Given the description of an element on the screen output the (x, y) to click on. 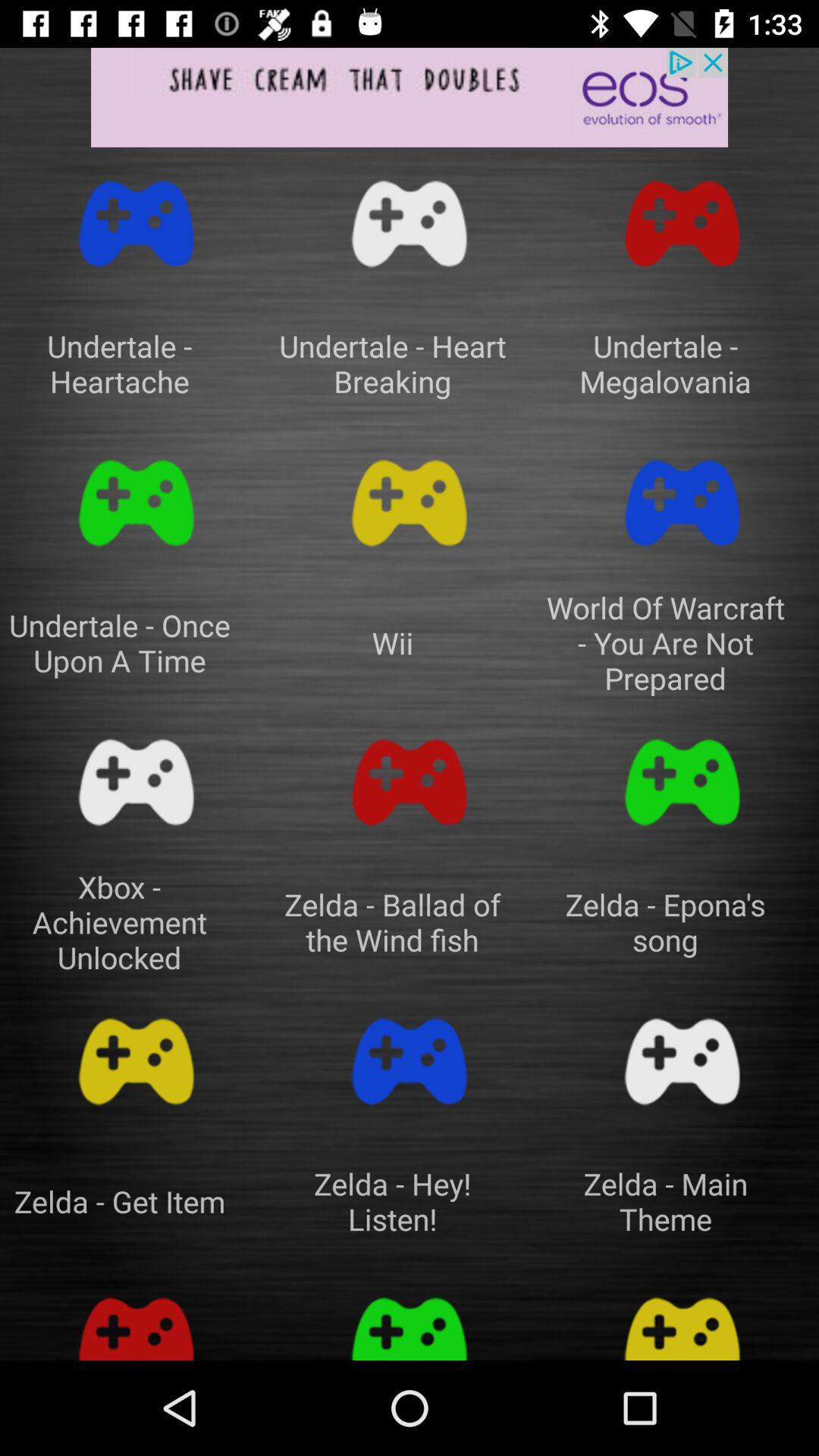
choose an item (136, 1061)
